Given the description of an element on the screen output the (x, y) to click on. 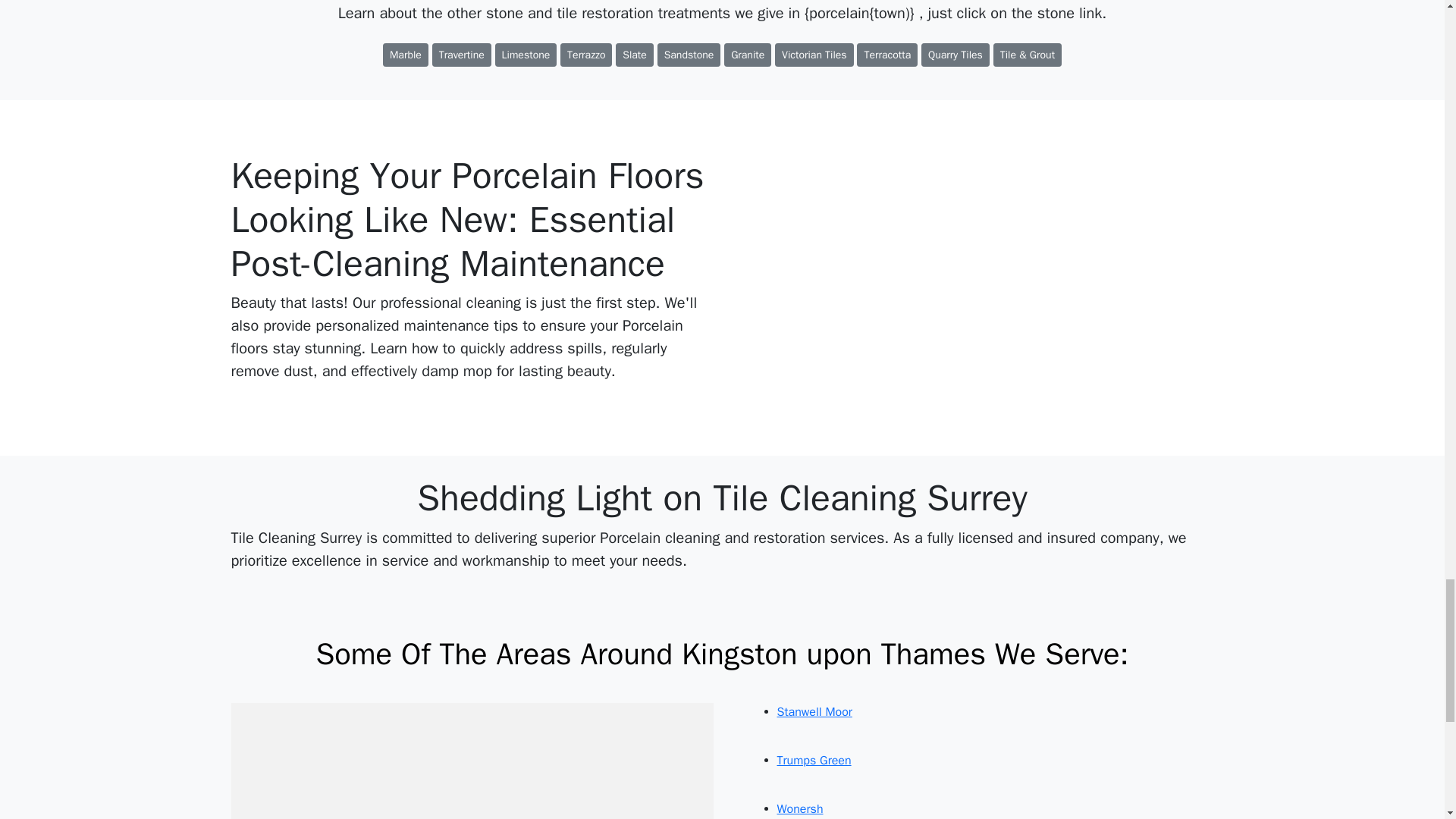
Terrazzo (585, 54)
Wonersh (799, 808)
Stanwell Moor (813, 711)
Limestone (526, 54)
Slate (634, 54)
Granite (747, 54)
Travertine (462, 54)
Quarry Tiles (955, 54)
Marble (405, 54)
Trumps Green (813, 760)
